Given the description of an element on the screen output the (x, y) to click on. 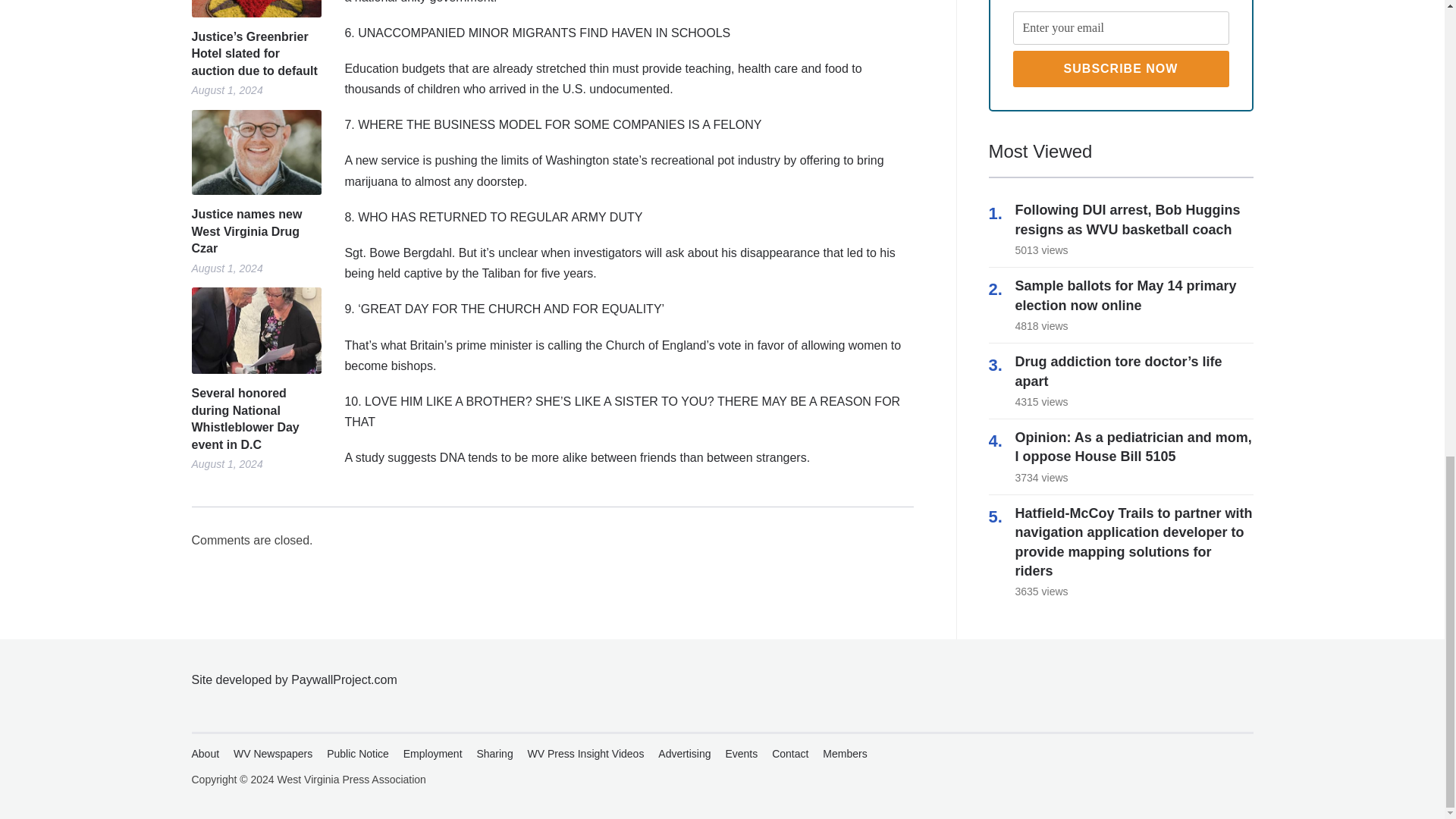
Permalink to Justice names new West Virginia Drug Czar (255, 152)
Permalink to Justice names new West Virginia Drug Czar (255, 231)
Subscribe Now (1120, 68)
